Given the description of an element on the screen output the (x, y) to click on. 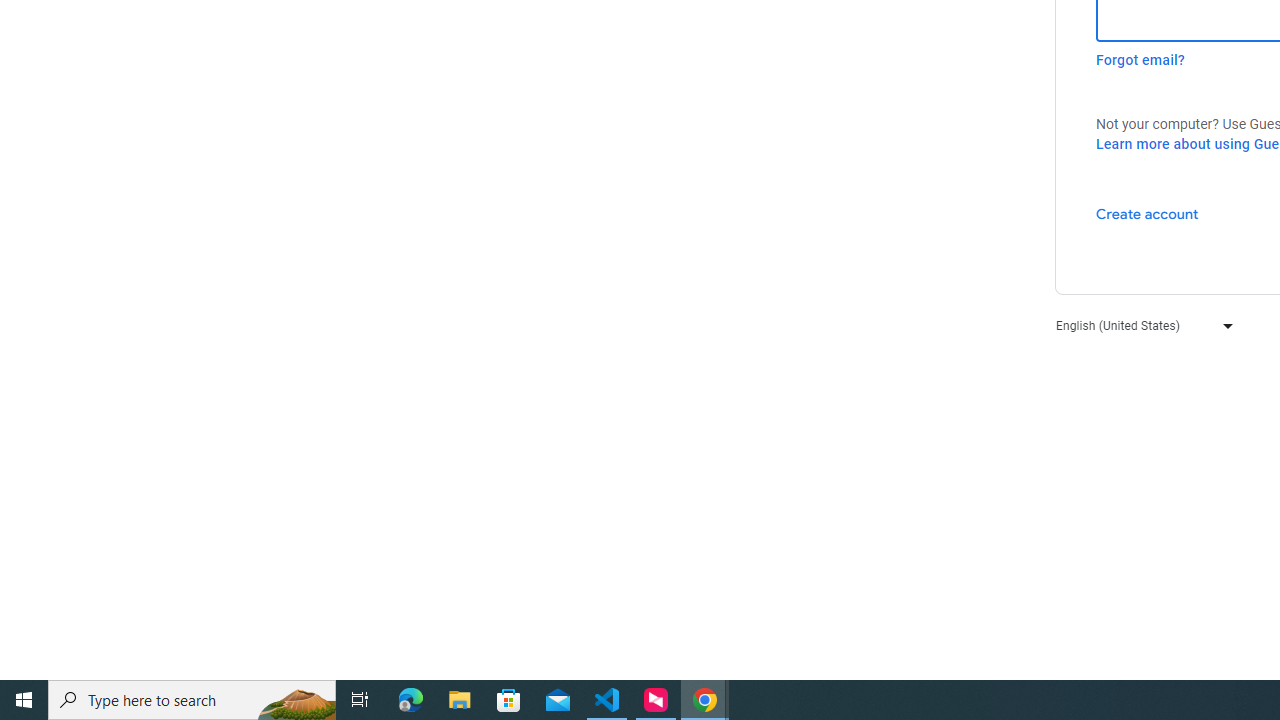
Create account (1146, 213)
English (United States) (1139, 324)
Forgot email? (1140, 59)
